Given the description of an element on the screen output the (x, y) to click on. 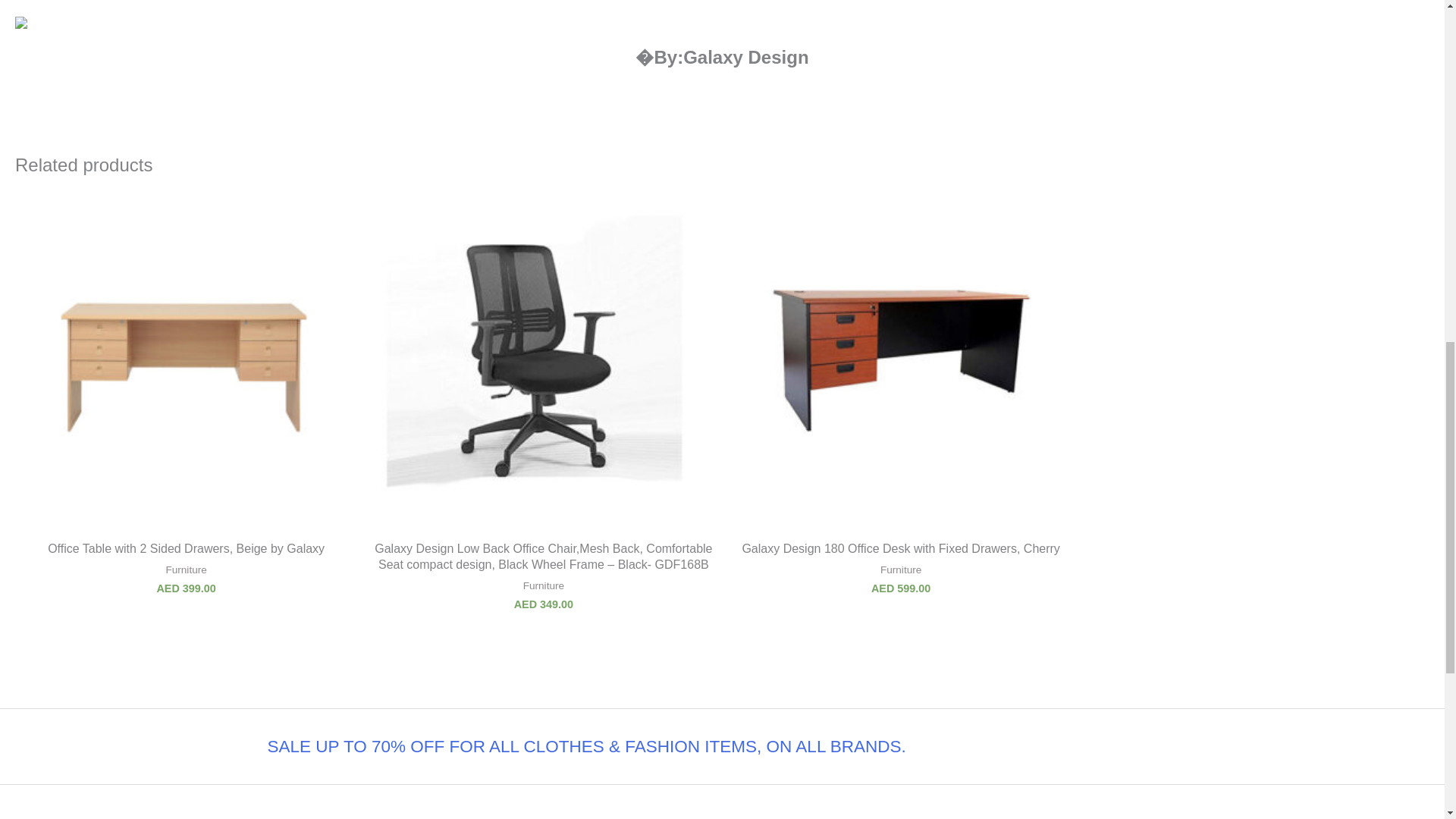
Office Table with 2 Sided Drawers, Beige by Galaxy (185, 549)
